Given the description of an element on the screen output the (x, y) to click on. 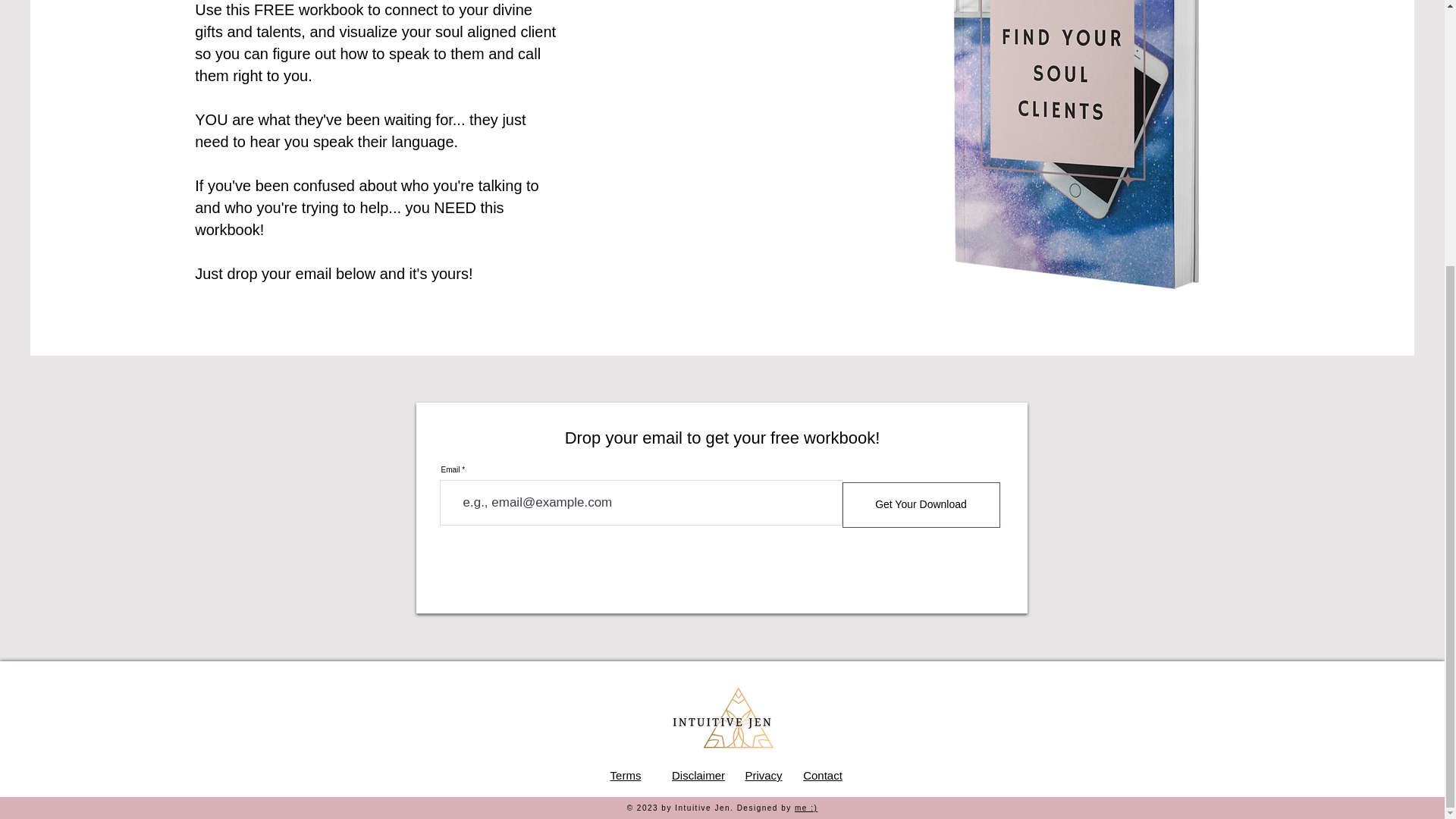
Terms (626, 775)
Get Your Download (919, 504)
Privacy (762, 775)
Contact (823, 775)
Intuitive Jen  Spiritual Business Coach  (721, 721)
